Given the description of an element on the screen output the (x, y) to click on. 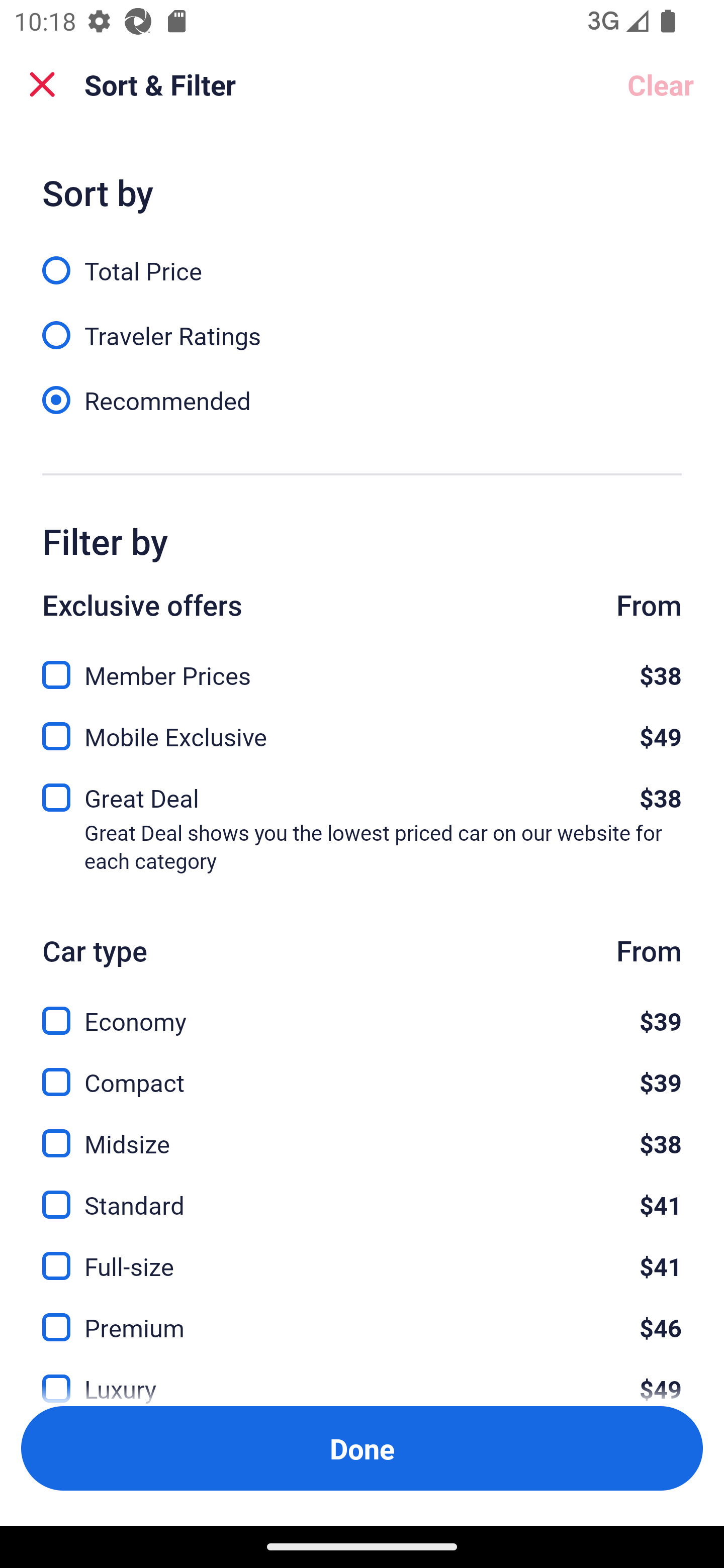
Close Sort and Filter (42, 84)
Clear (660, 84)
Total Price (361, 259)
Traveler Ratings (361, 324)
Member Prices, $38 Member Prices $38 (361, 663)
Mobile Exclusive, $49 Mobile Exclusive $49 (361, 730)
Economy, $39 Economy $39 (361, 1008)
Compact, $39 Compact $39 (361, 1070)
Midsize, $38 Midsize $38 (361, 1132)
Standard, $41 Standard $41 (361, 1193)
Full-size, $41 Full-size $41 (361, 1254)
Premium, $46 Premium $46 (361, 1315)
Luxury, $49 Luxury $49 (361, 1376)
Apply and close Sort and Filter Done (361, 1448)
